Given the description of an element on the screen output the (x, y) to click on. 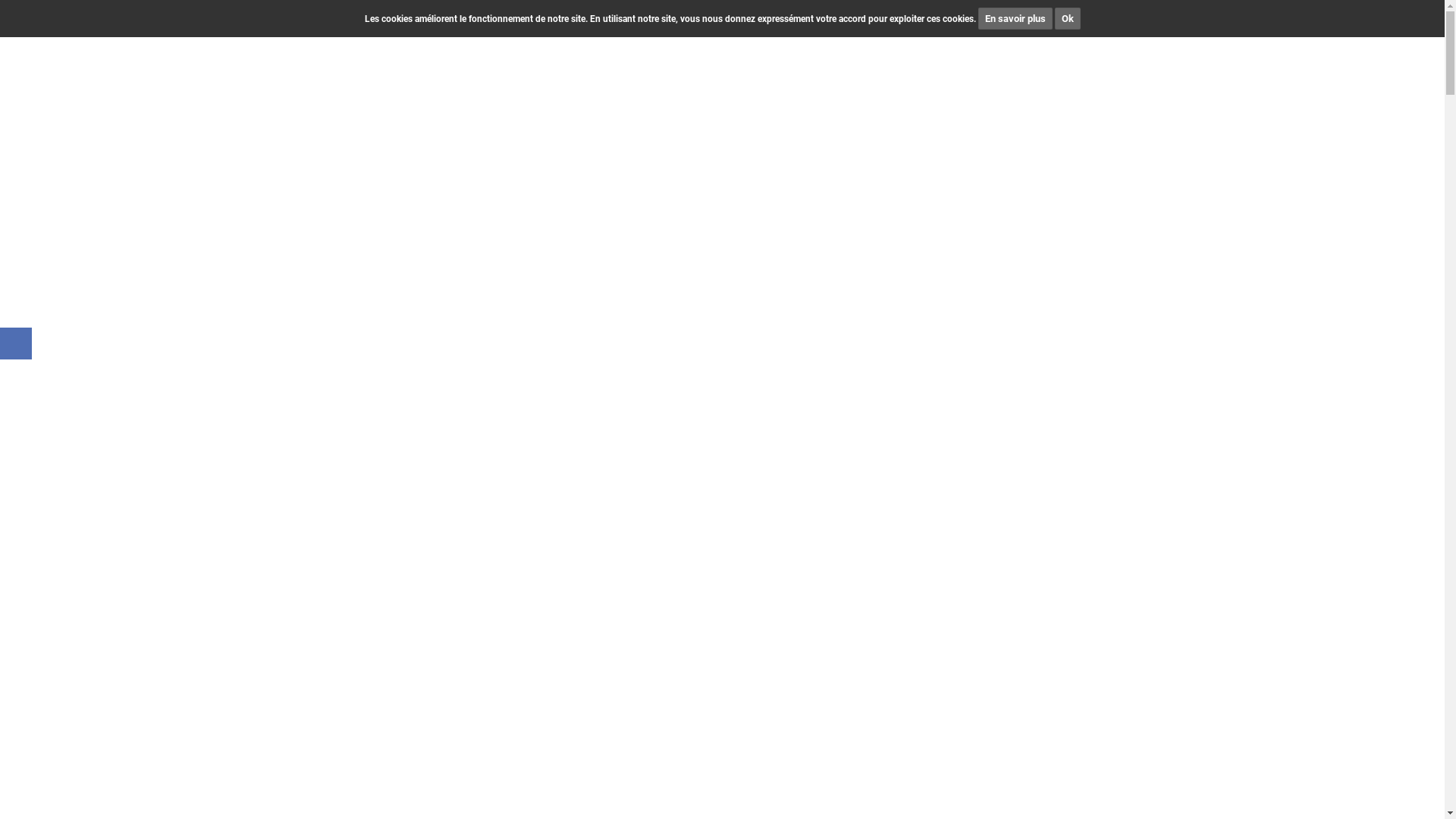
Ok Element type: text (1066, 18)
Page Facebook de CIM Immobilier Element type: hover (15, 343)
En savoir plus Element type: text (1015, 18)
